Given the description of an element on the screen output the (x, y) to click on. 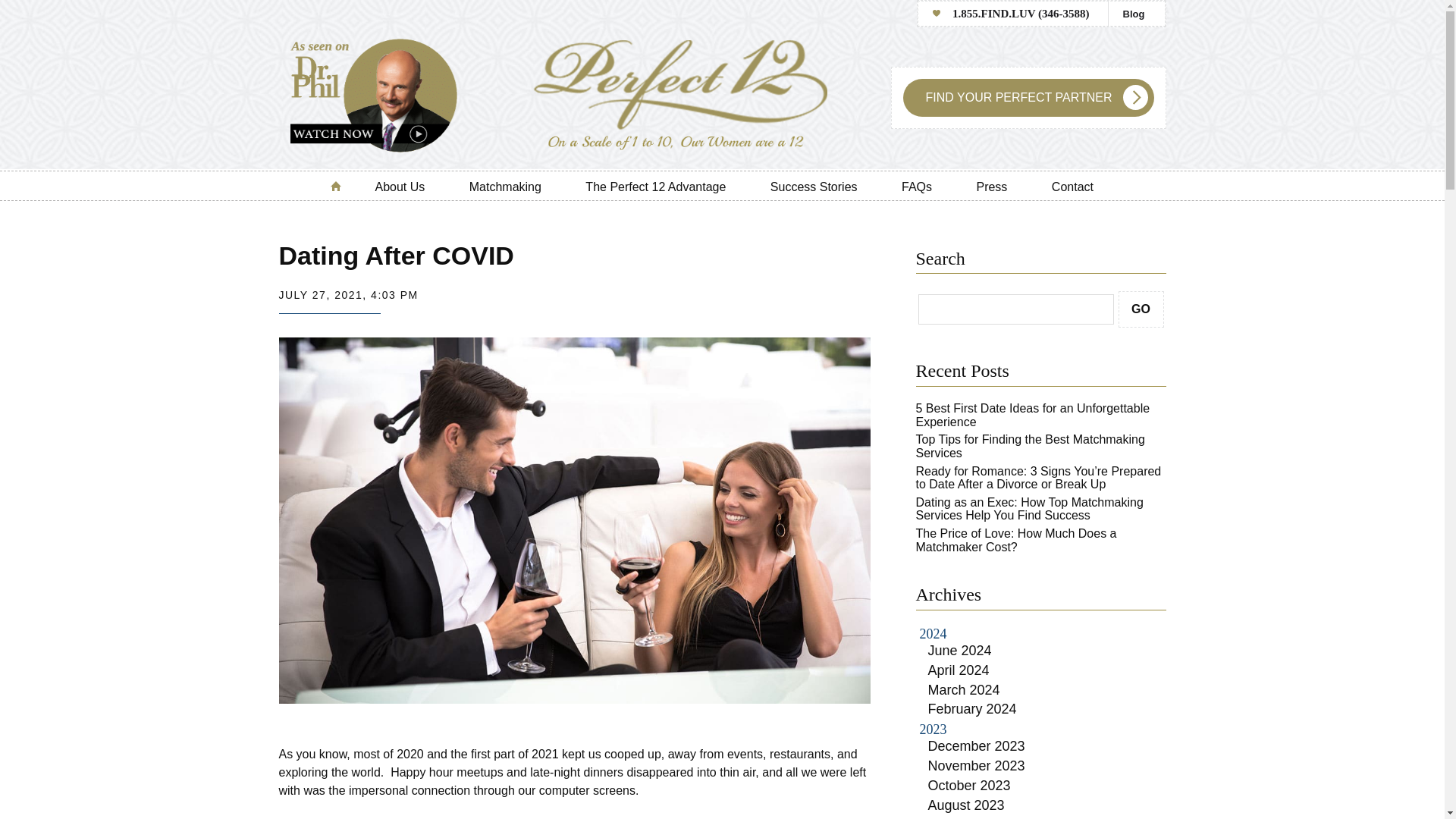
Blog (1136, 13)
March 2024 (964, 689)
Contact (1071, 185)
Success Stories (813, 185)
Go (1140, 309)
FIND YOUR PERFECT PARTNER (1028, 97)
Go (1140, 309)
November 2023 (976, 765)
June 2024 (959, 650)
The Price of Love: How Much Does a Matchmaker Cost? (1015, 540)
Matchmaking (505, 185)
Top Tips for Finding the Best Matchmaking Services (1029, 446)
The Perfect 12 Advantage (654, 185)
Go (1140, 309)
